Given the description of an element on the screen output the (x, y) to click on. 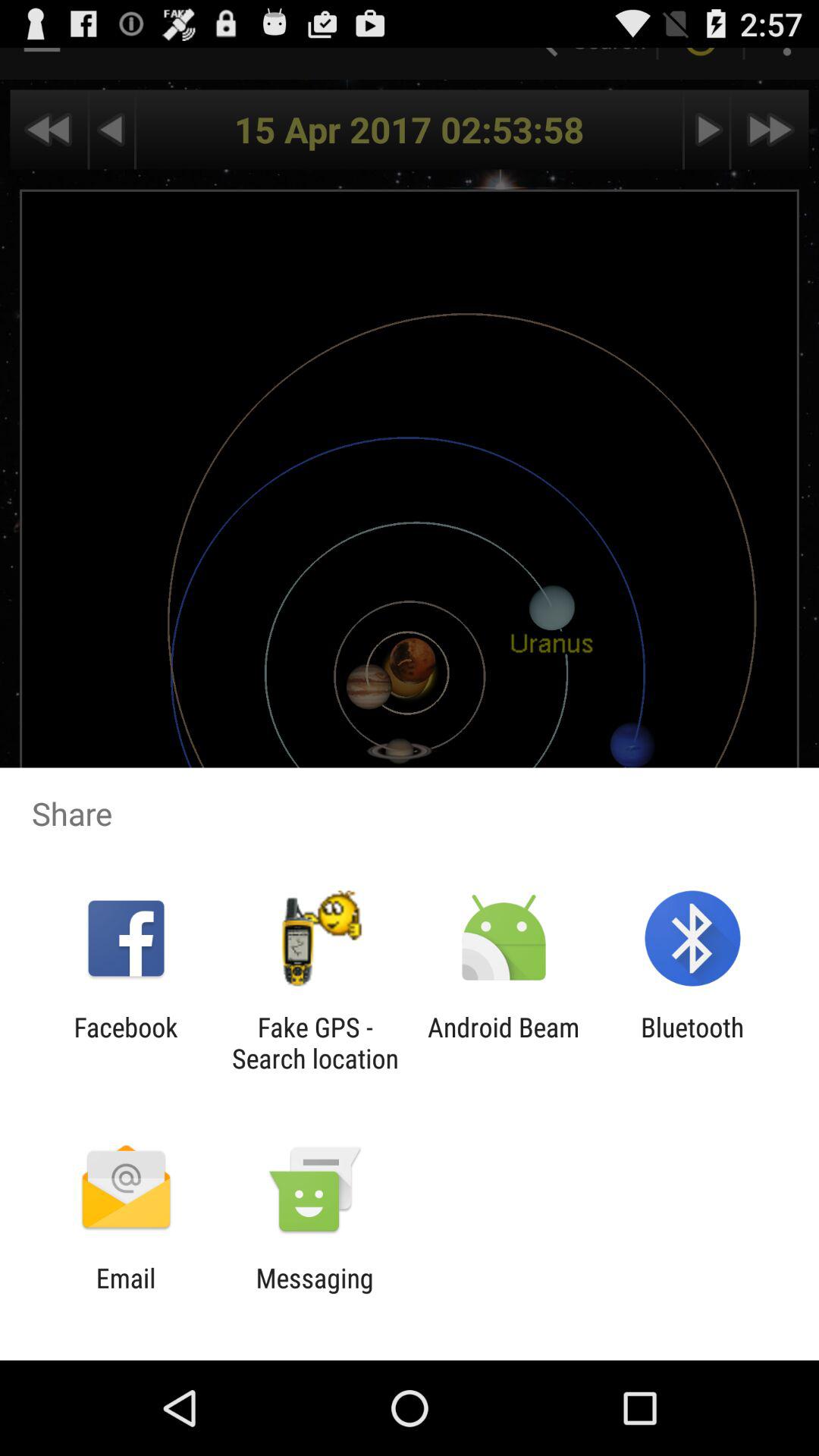
choose the icon next to android beam icon (314, 1042)
